Given the description of an element on the screen output the (x, y) to click on. 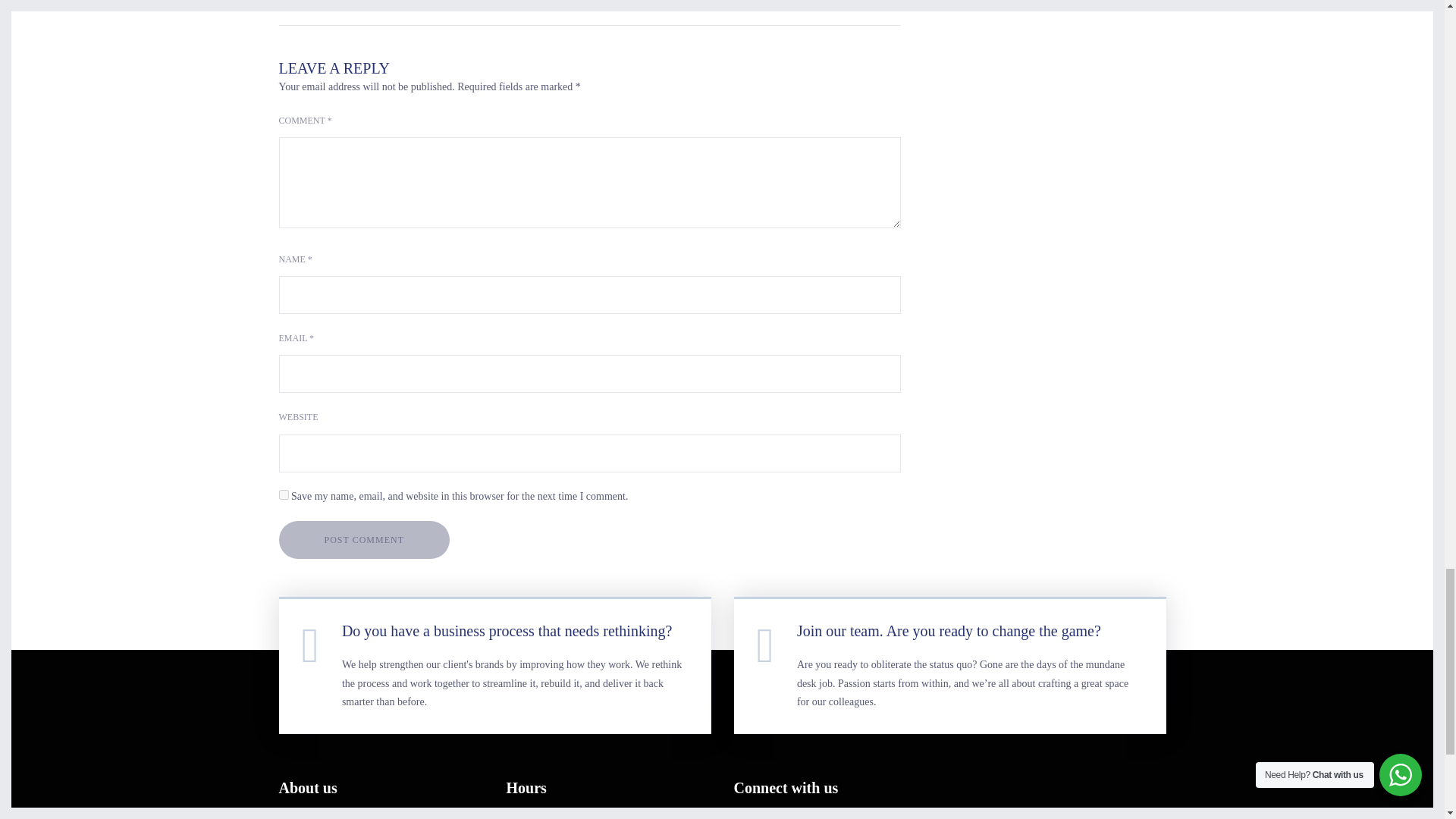
yes (283, 494)
Post Comment (364, 539)
